Given the description of an element on the screen output the (x, y) to click on. 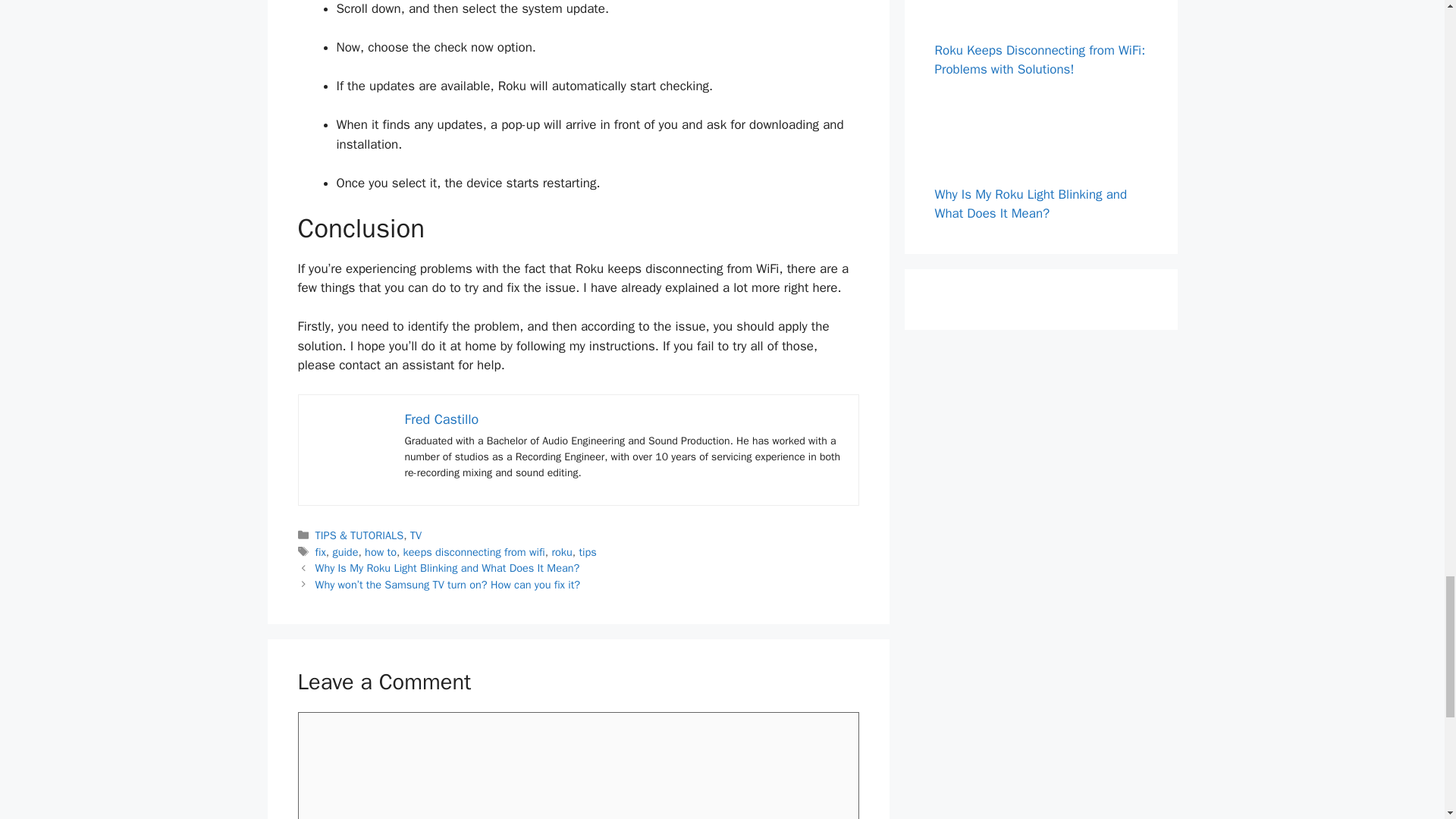
guide (344, 551)
Why Is My Roku Light Blinking and What Does It Mean? (447, 567)
keeps disconnecting from wifi (473, 551)
tips (586, 551)
roku (561, 551)
Fred Castillo (441, 419)
how to (380, 551)
